Given the description of an element on the screen output the (x, y) to click on. 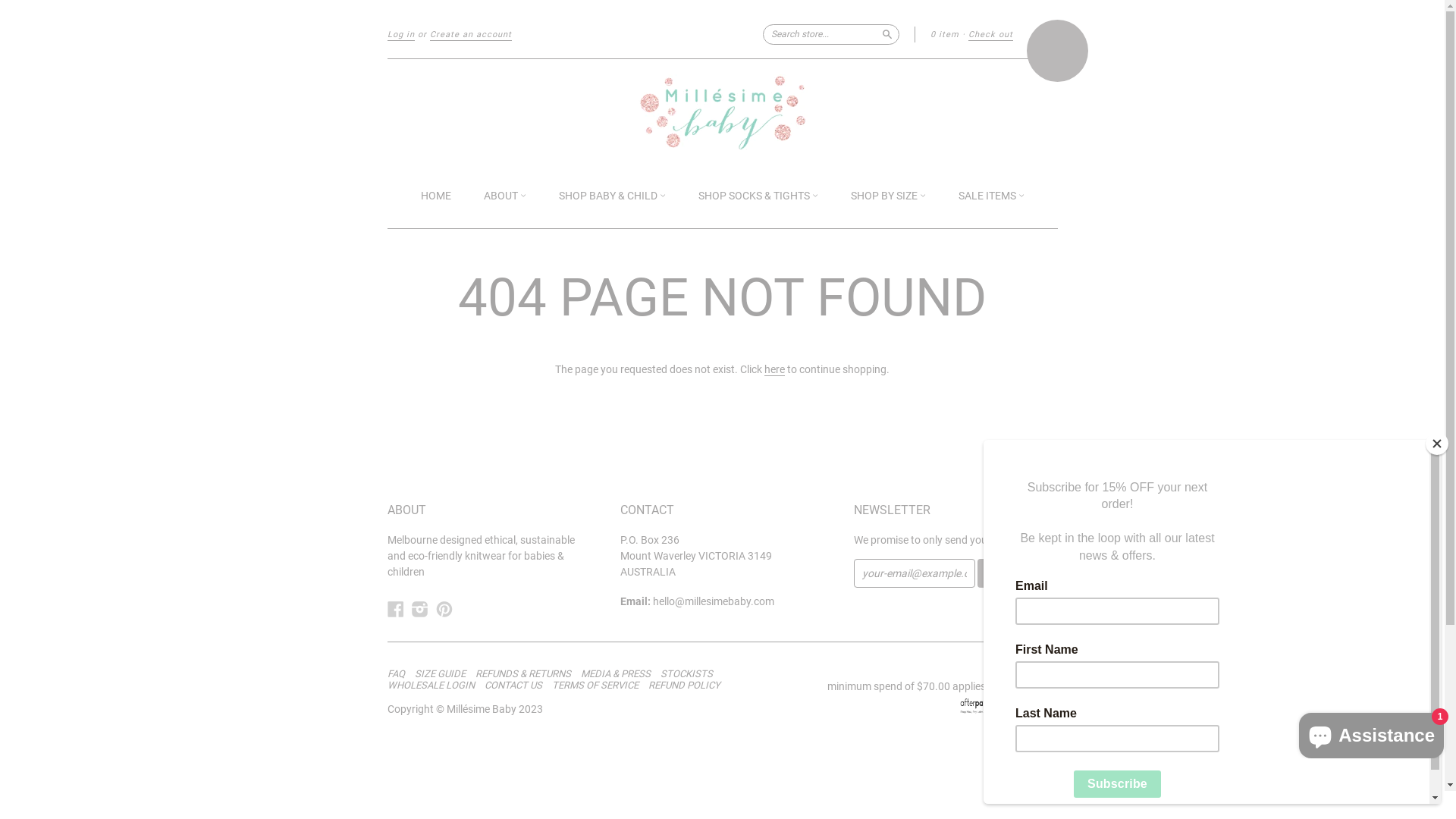
HOME Element type: text (435, 195)
Shopify online store chat Element type: hover (1371, 732)
Subscribe Element type: text (1010, 572)
Pinterest Element type: text (443, 608)
SHOP SOCKS & TIGHTS Element type: text (757, 196)
SHOP BY SIZE Element type: text (887, 196)
Log in Element type: text (400, 34)
SIZE GUIDE Element type: text (443, 673)
hello@millesimebaby.com Element type: text (713, 601)
TERMS OF SERVICE Element type: text (599, 685)
ABOUT Element type: text (504, 196)
FAQ Element type: text (398, 673)
WHOLESALE LOGIN Element type: text (433, 685)
Check out Element type: text (989, 34)
REFUNDS & RETURNS Element type: text (525, 673)
Search Element type: text (886, 33)
STOCKISTS Element type: text (689, 673)
SHOP BABY & CHILD Element type: text (611, 196)
Create an account Element type: text (470, 34)
CONTACT US Element type: text (516, 685)
Facebook Element type: text (394, 608)
MEDIA & PRESS Element type: text (619, 673)
0 item Element type: text (943, 34)
here Element type: text (774, 369)
SALE ITEMS Element type: text (991, 196)
REFUND POLICY Element type: text (687, 685)
Instagram Element type: text (419, 608)
